Given the description of an element on the screen output the (x, y) to click on. 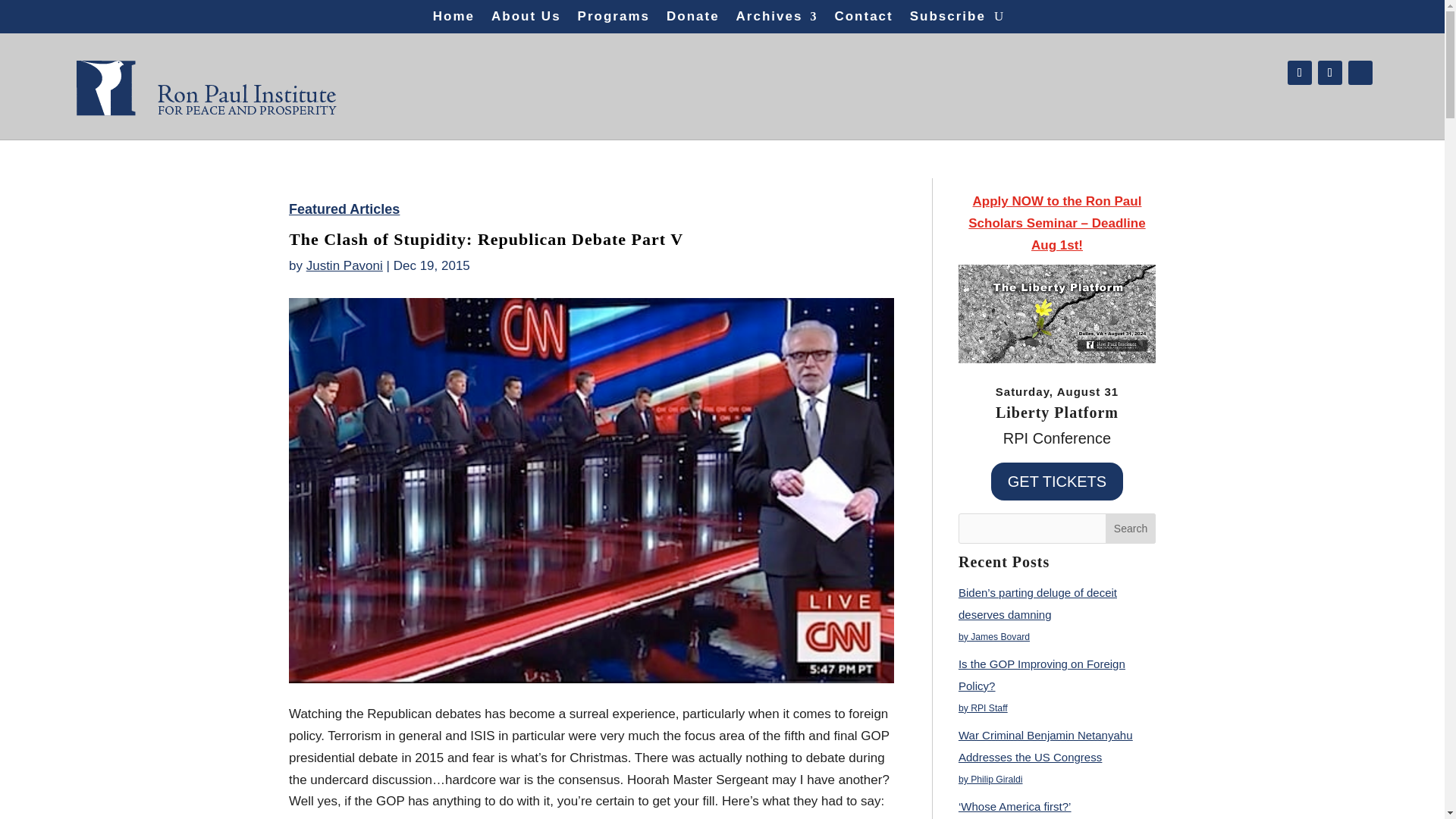
About Us (526, 19)
Donate (692, 19)
Archives (777, 19)
GET TICKETS (1056, 481)
Follow on Facebook (1299, 72)
Contact (863, 19)
Programs (613, 19)
Follow on X (1329, 72)
Saturday, August 31 (1056, 391)
Follow on Youtube (1360, 72)
Featured Articles (343, 209)
Home (453, 19)
Subscribe (947, 19)
Posts by Justin Pavoni (343, 265)
Justin Pavoni (343, 265)
